Given the description of an element on the screen output the (x, y) to click on. 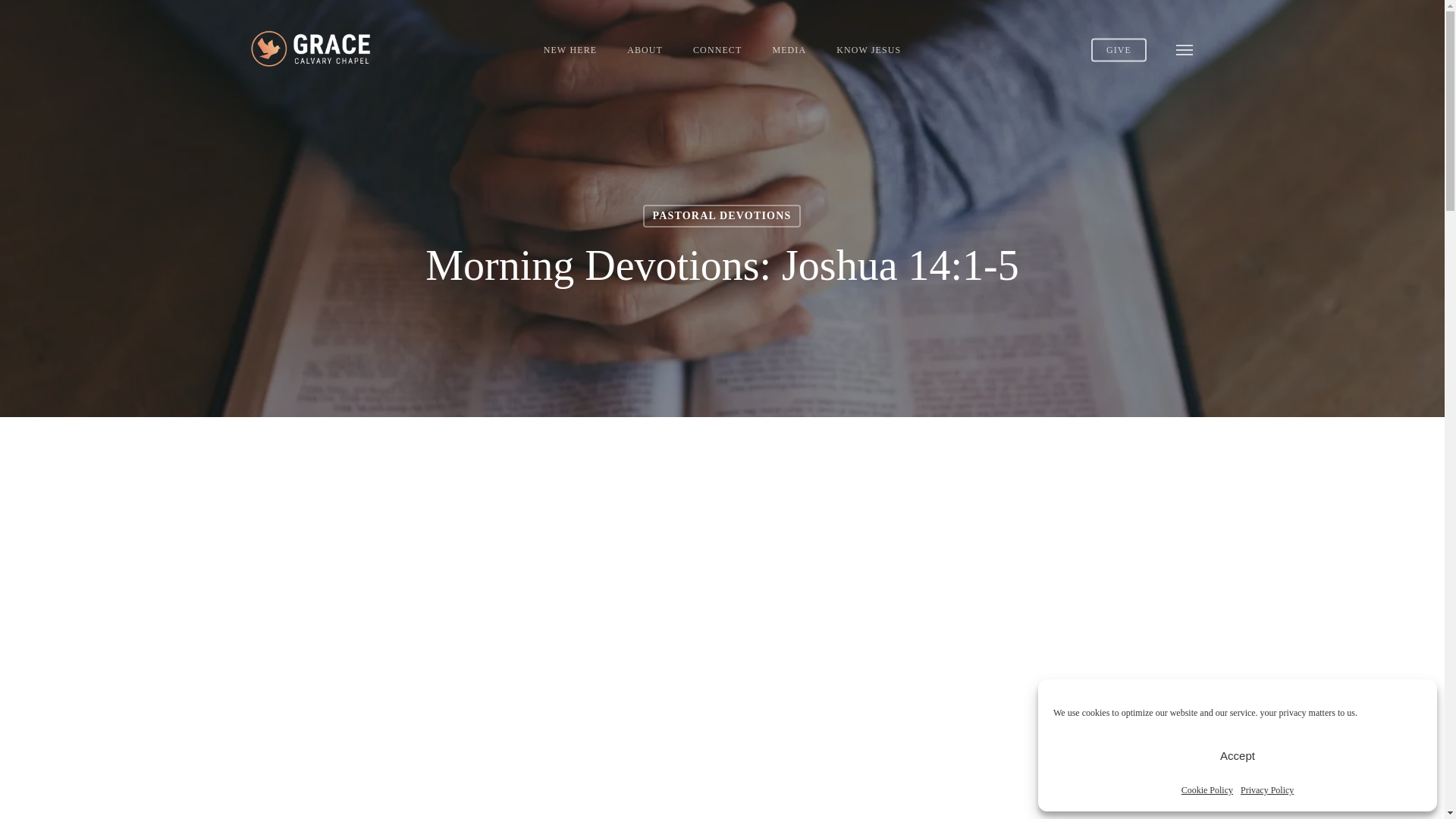
ABOUT (644, 49)
Privacy Policy (1267, 790)
NEW HERE (569, 49)
Accept (1237, 755)
CONNECT (717, 49)
MEDIA (788, 49)
Cookie Policy (1206, 790)
